Given the description of an element on the screen output the (x, y) to click on. 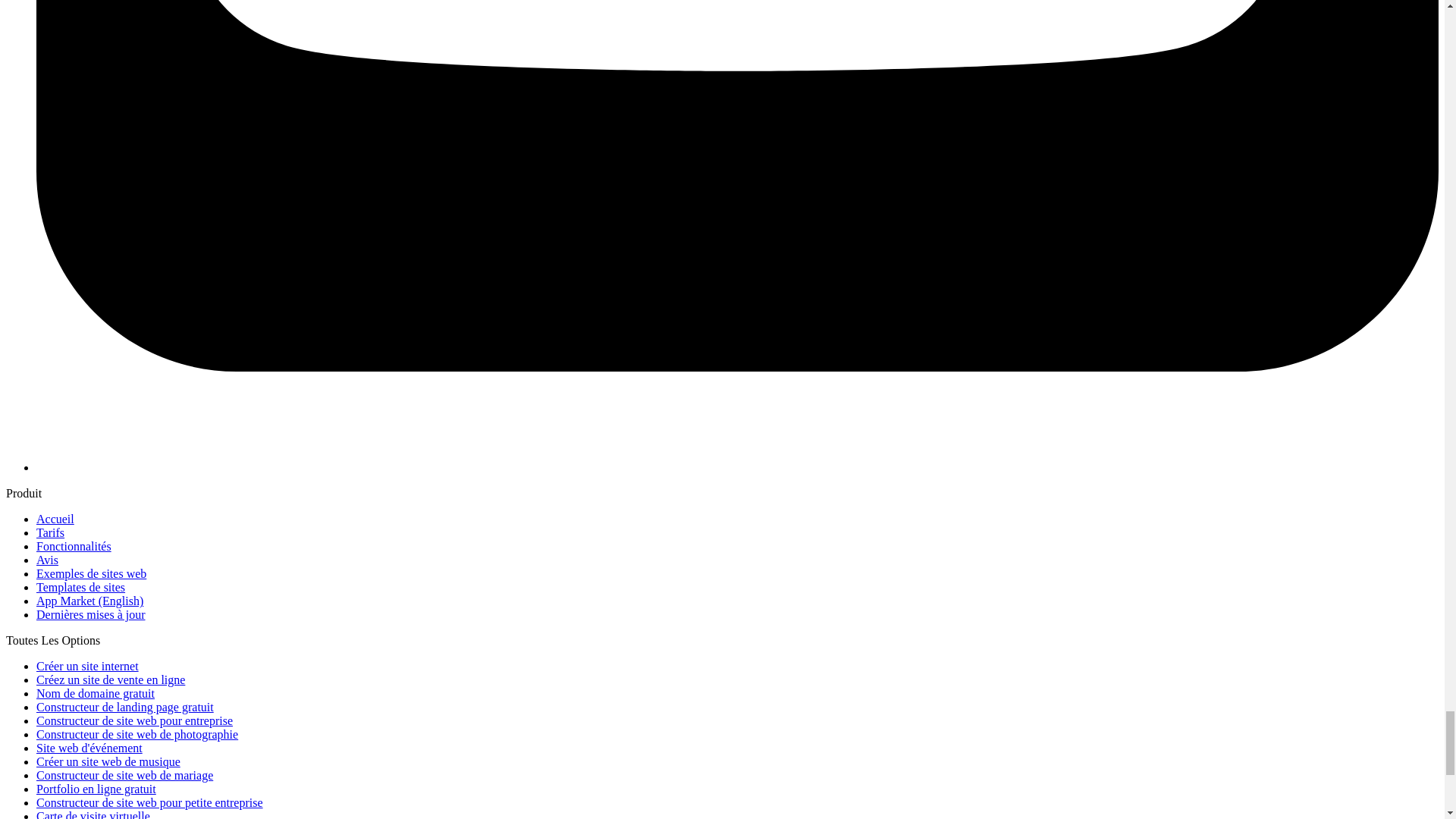
Templates de sites (80, 586)
Nom de domaine gratuit (95, 693)
Accueil (55, 518)
Avis (47, 559)
Tarifs (50, 532)
Exemples de sites web (91, 573)
